Given the description of an element on the screen output the (x, y) to click on. 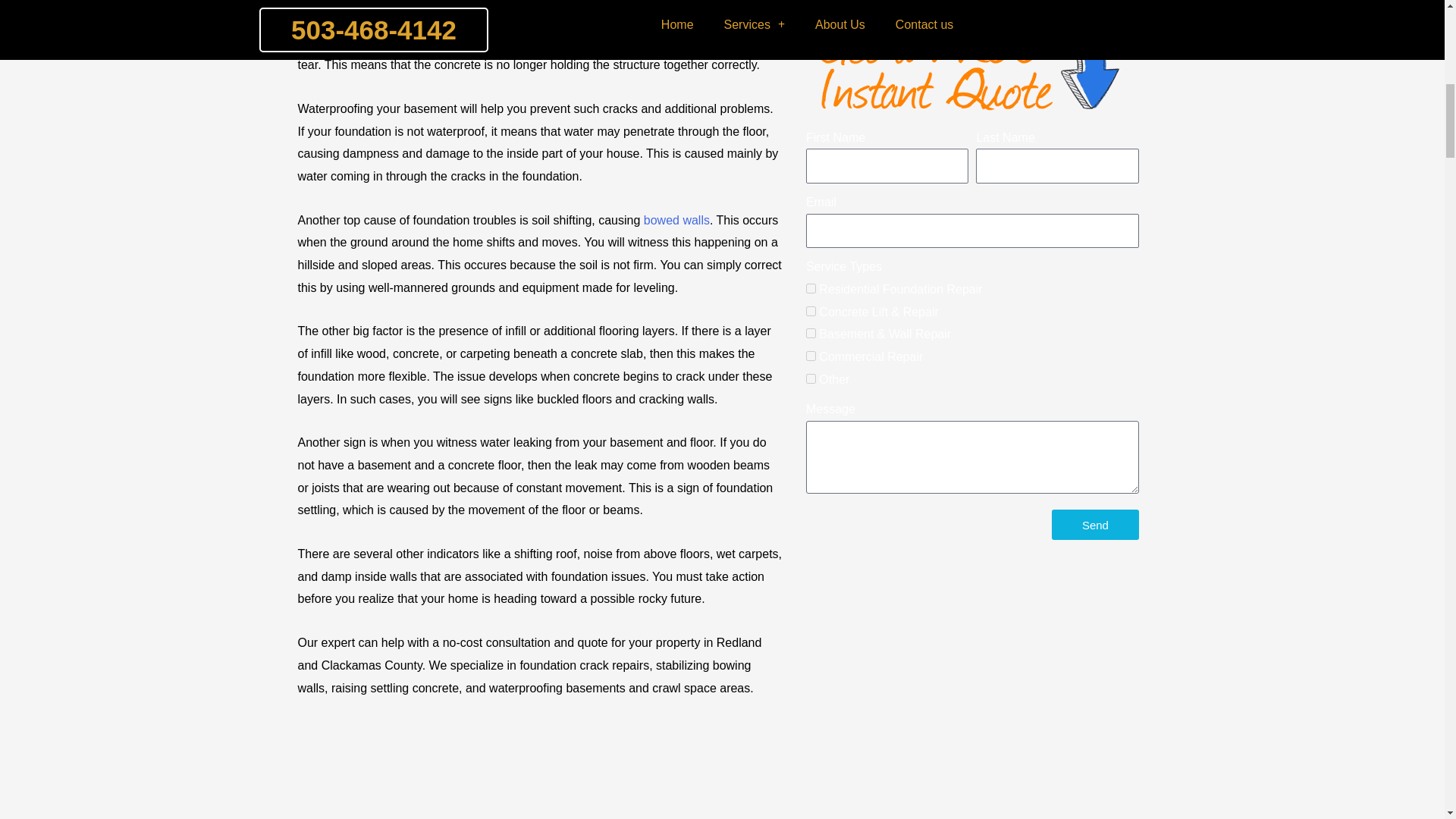
Send (1094, 524)
bowed walls (676, 219)
Other (810, 378)
Residential Foundation Repair (810, 288)
Commercial Repair (810, 356)
